Given the description of an element on the screen output the (x, y) to click on. 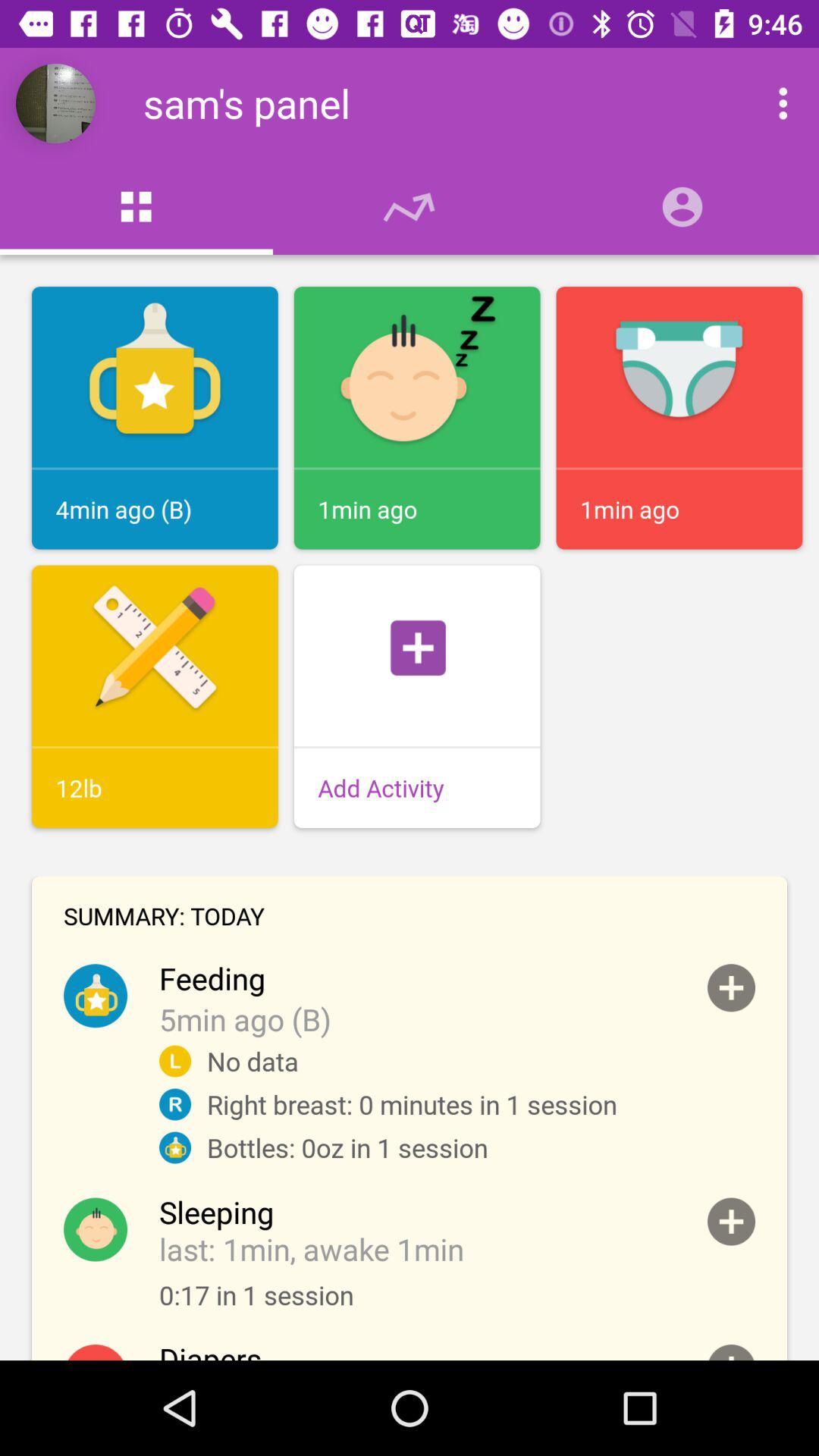
app menu (767, 103)
